Given the description of an element on the screen output the (x, y) to click on. 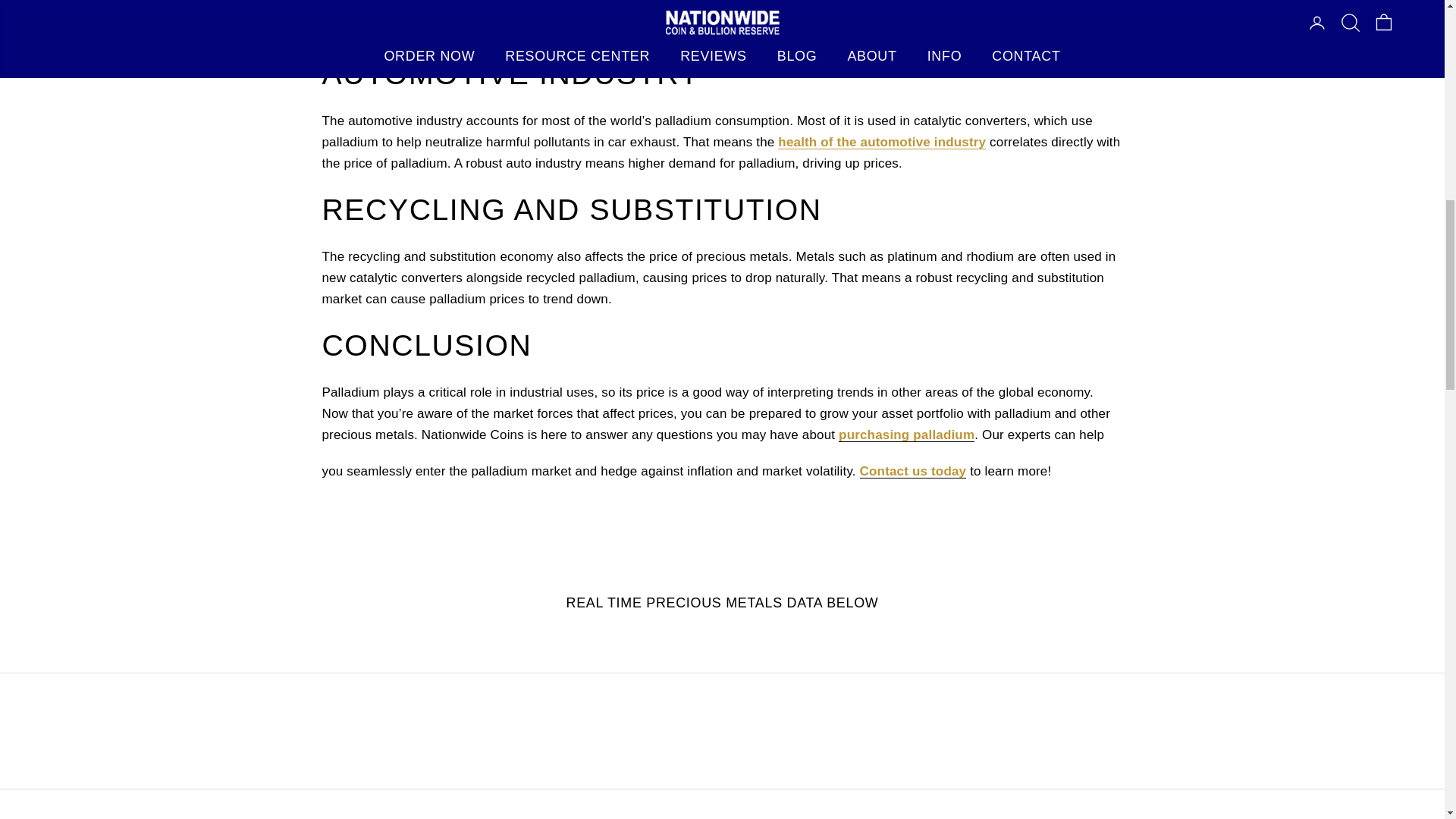
Contact us today (913, 471)
purchasing palladium (906, 434)
health of the automotive industry (881, 142)
record high (651, 27)
